Given the description of an element on the screen output the (x, y) to click on. 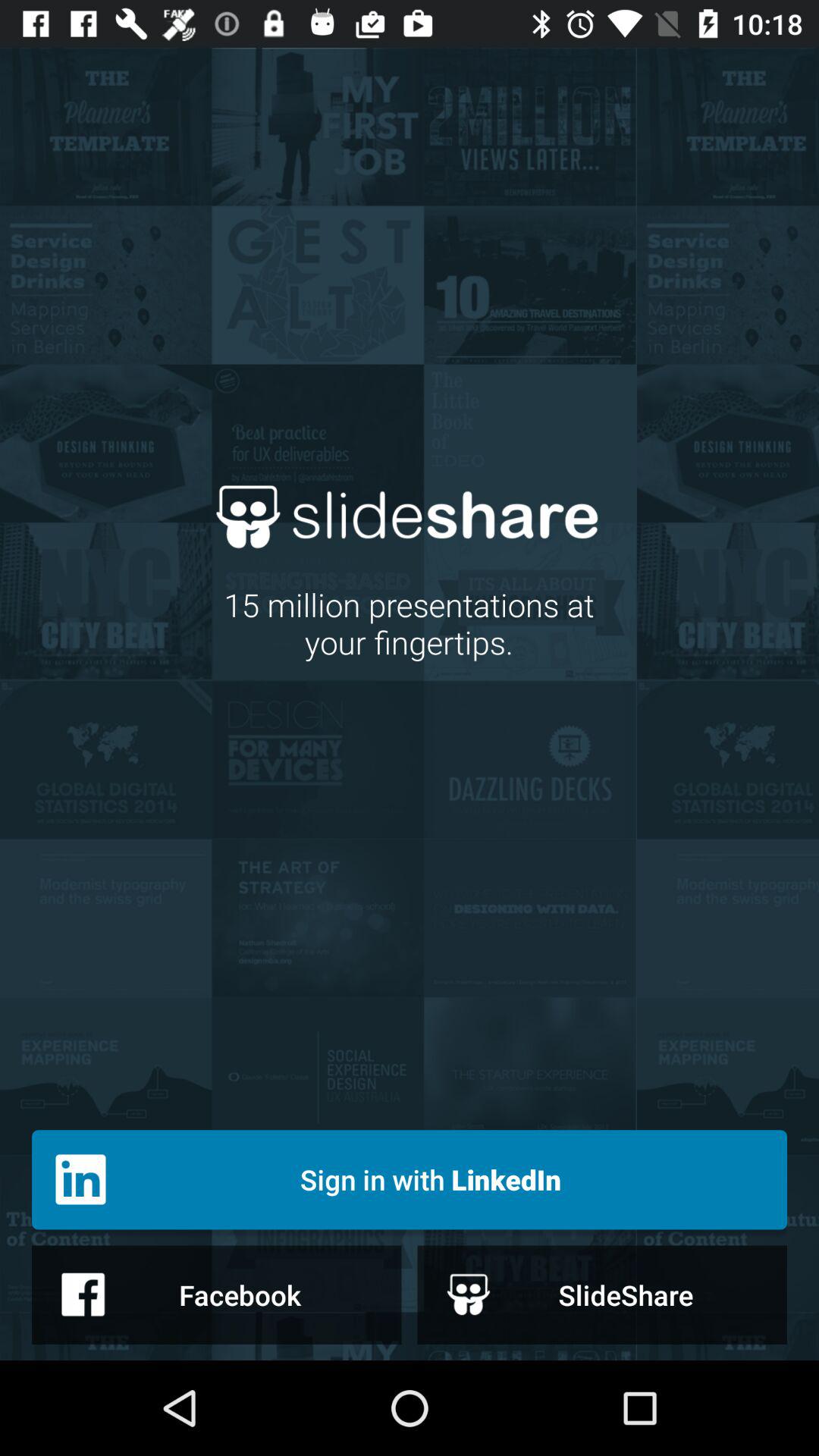
turn on the item next to facebook (602, 1294)
